Given the description of an element on the screen output the (x, y) to click on. 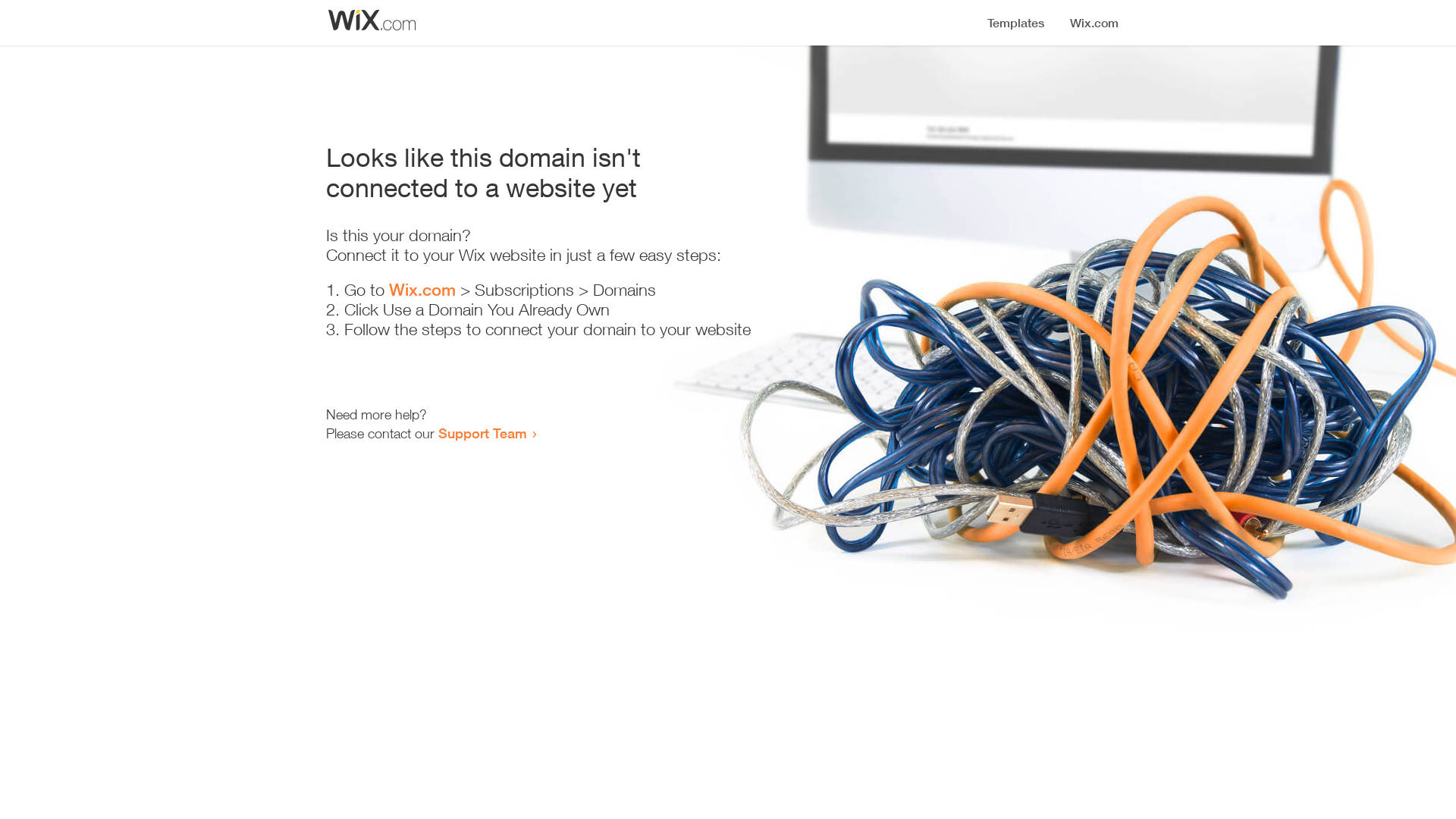
Support Team Element type: text (482, 432)
Wix.com Element type: text (422, 289)
